Given the description of an element on the screen output the (x, y) to click on. 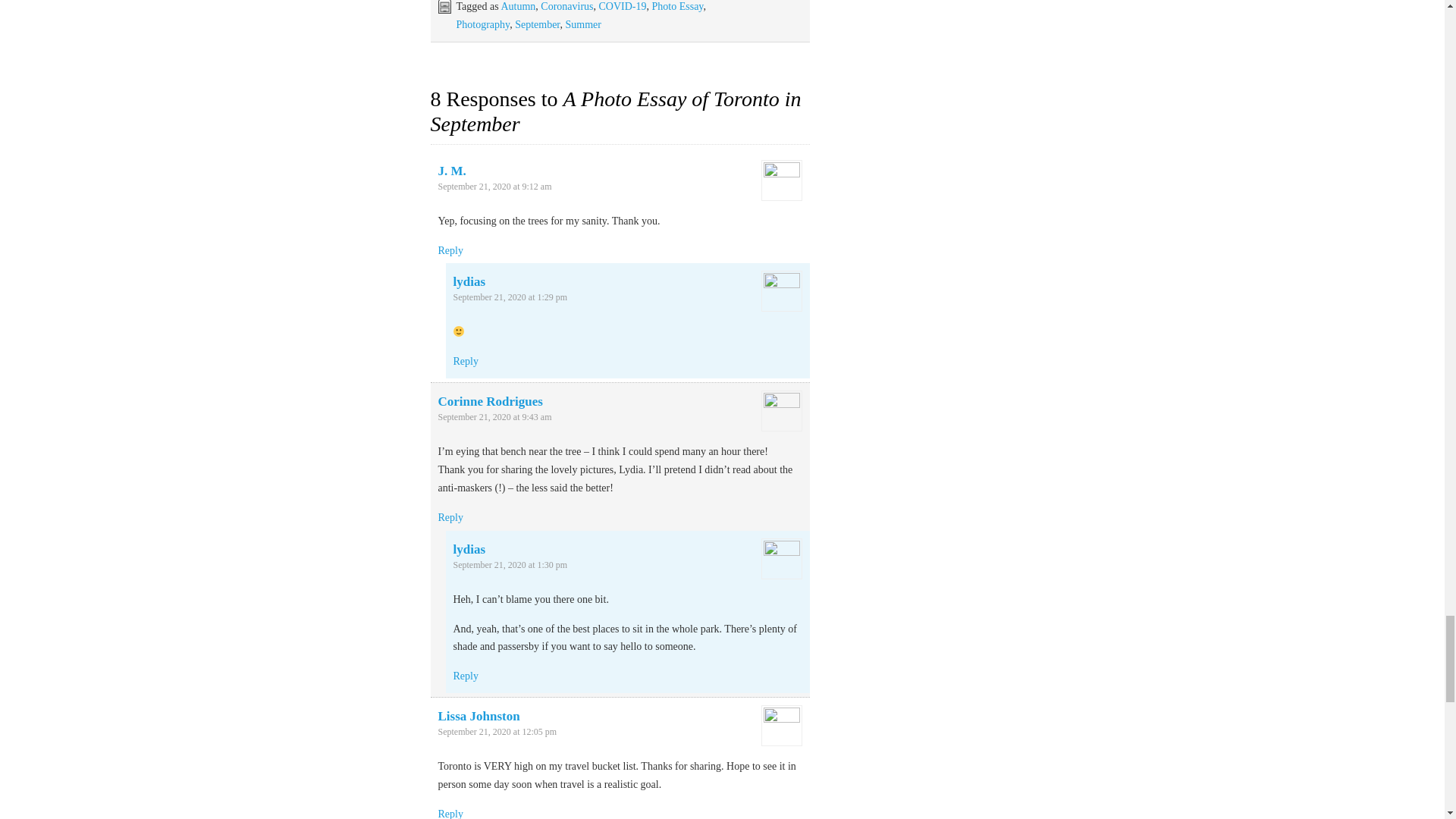
Photo Essay (677, 6)
Reply (465, 360)
COVID-19 (622, 6)
Photography (484, 24)
Summer (581, 24)
J. M. (451, 170)
Corinne Rodrigues (490, 400)
September (537, 24)
Reply (450, 517)
September 21, 2020 at 1:29 pm (509, 296)
September 21, 2020 at 9:43 am (494, 416)
Autumn (517, 6)
Coronavirus (566, 6)
September 21, 2020 at 9:12 am (494, 185)
Reply (450, 250)
